Given the description of an element on the screen output the (x, y) to click on. 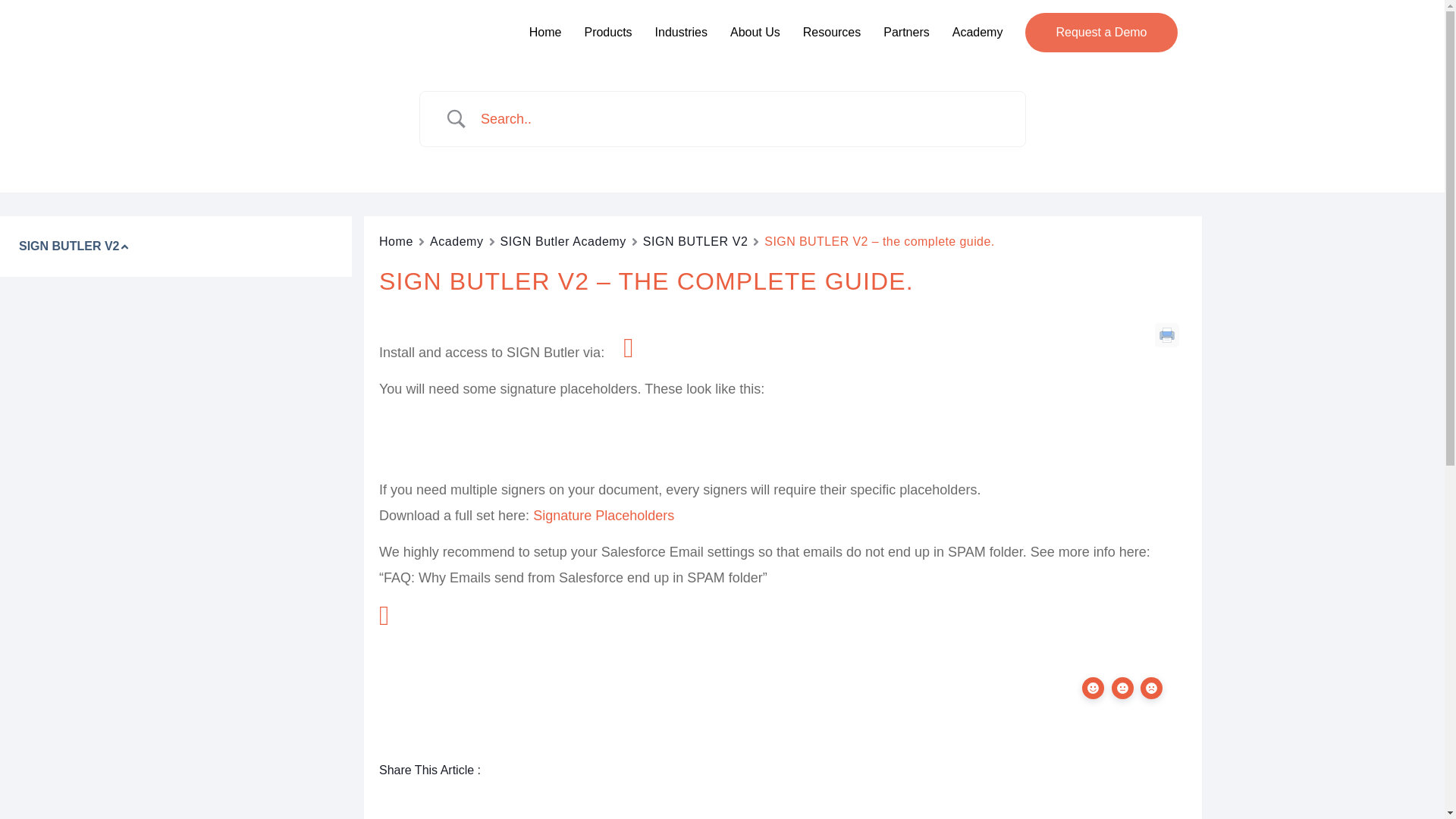
Home (395, 240)
Home (545, 31)
Partners (905, 31)
Products (607, 31)
Academy (977, 31)
SIGN Butler Academy (563, 240)
Industries (681, 31)
Resources (831, 31)
Academy (456, 240)
About Us (755, 31)
SIGN BUTLER V2 (695, 240)
